Given the description of an element on the screen output the (x, y) to click on. 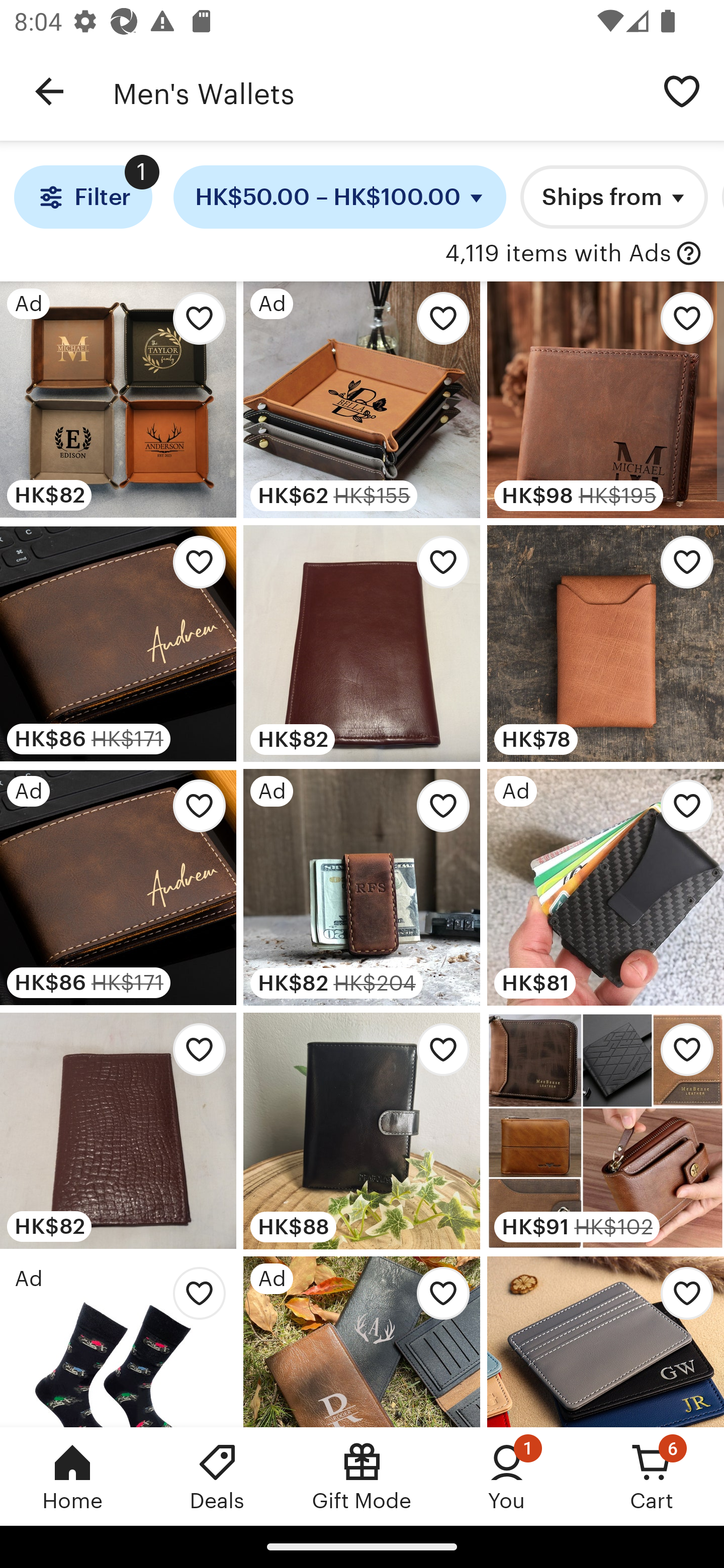
Navigate up (49, 91)
Save search (681, 90)
Men's Wallets (375, 91)
Filter (82, 197)
HK$50.00 – HK$100.00 (339, 197)
Ships from (614, 197)
4,119 items with Ads (558, 253)
with Ads (688, 253)
Add Men's wallet to favorites (438, 1054)
Add Wallet - men's wallets to favorites (681, 1054)
Deals (216, 1475)
Gift Mode (361, 1475)
You, 1 new notification You (506, 1475)
Cart, 6 new notifications Cart (651, 1475)
